Given the description of an element on the screen output the (x, y) to click on. 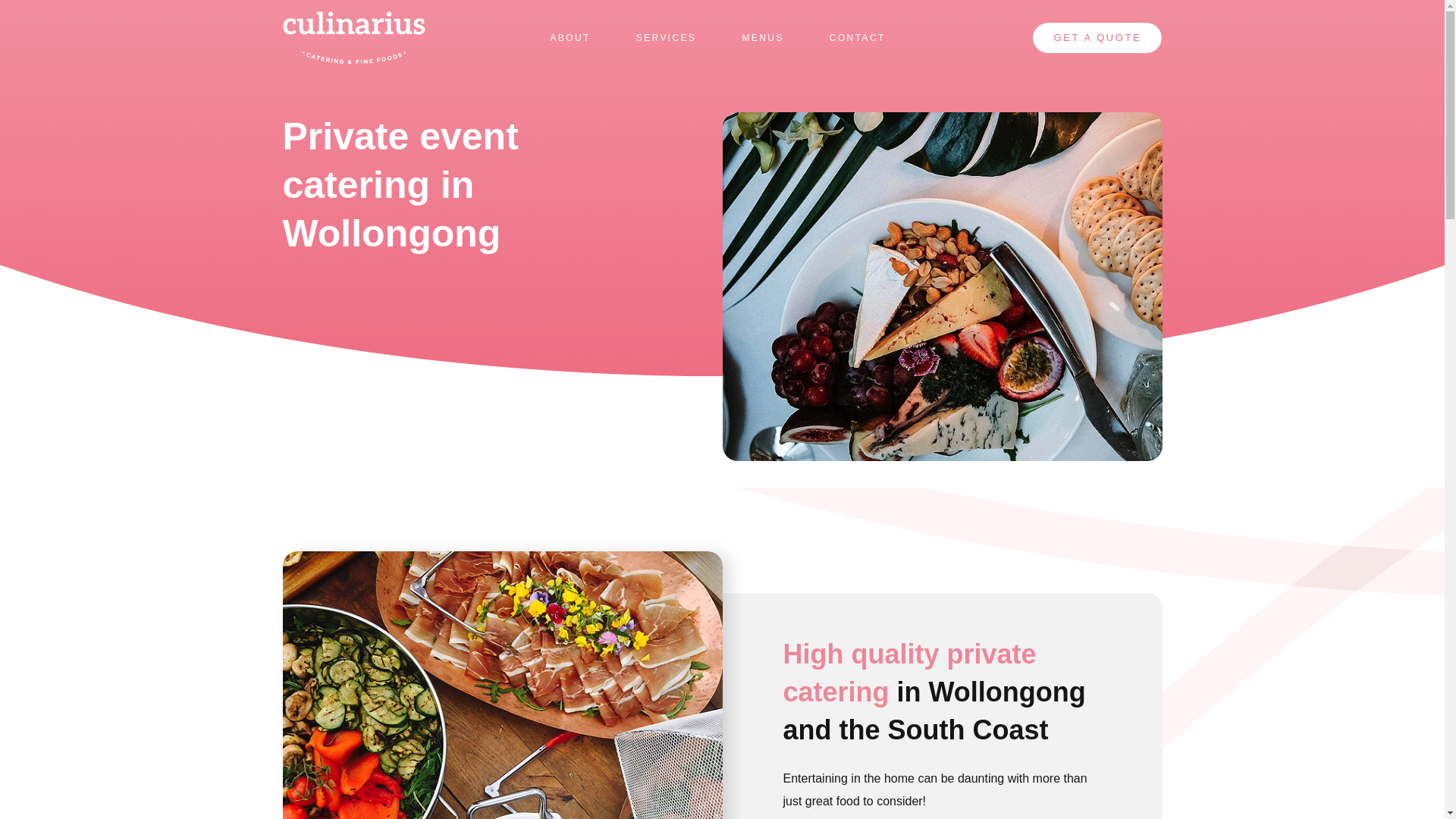
GET A QUOTE Element type: text (1096, 37)
SERVICES Element type: text (666, 37)
SKIP TO CONTENT Element type: text (274, 3)
MENUS Element type: text (762, 37)
CONTACT Element type: text (857, 37)
ABOUT Element type: text (569, 37)
